Given the description of an element on the screen output the (x, y) to click on. 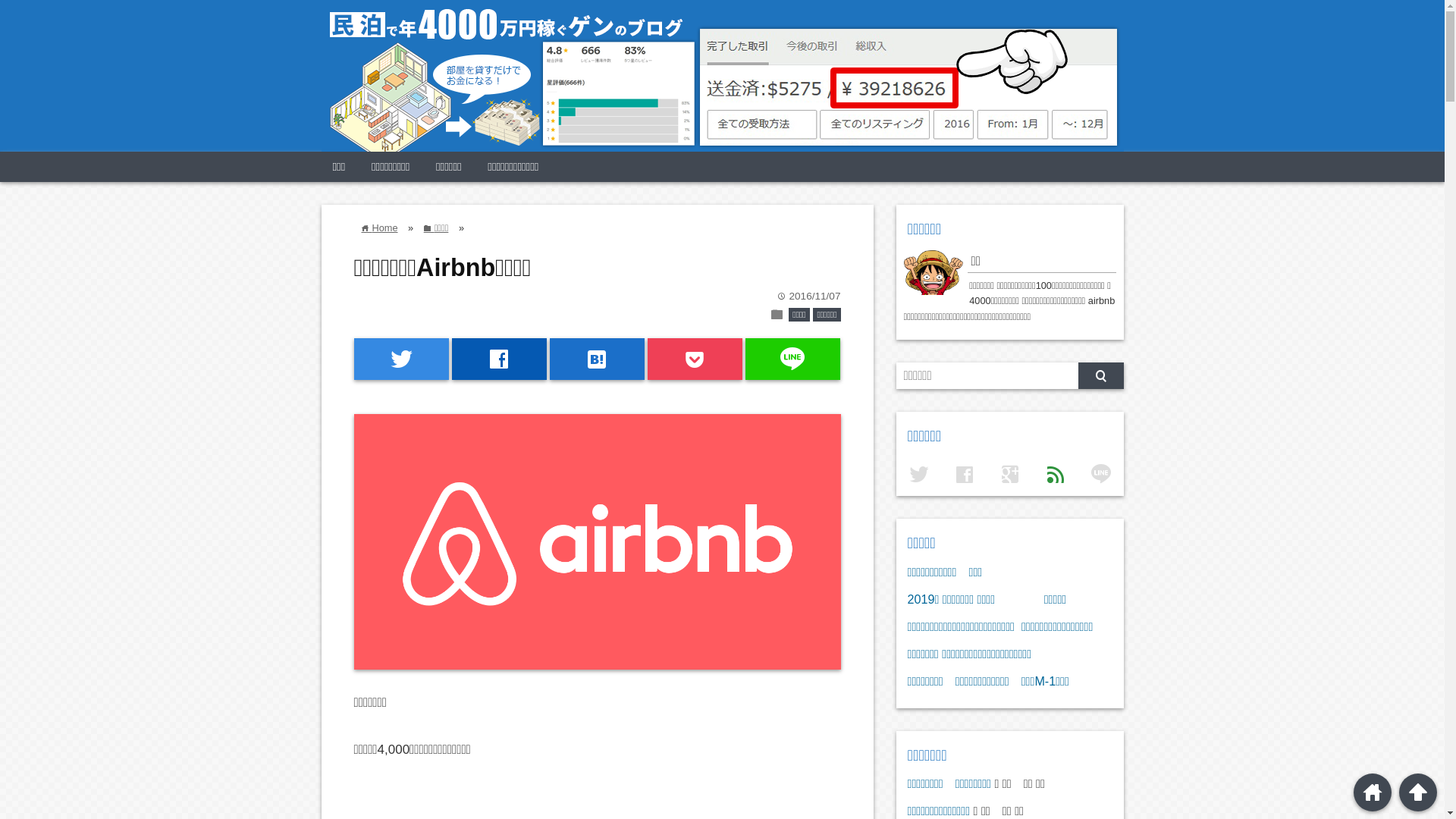
hatenabookmark Element type: text (596, 358)
home Home Element type: text (378, 227)
line Element type: text (792, 358)
search Element type: text (1100, 375)
facebook Element type: text (498, 358)
twitter Element type: text (400, 358)
